Given the description of an element on the screen output the (x, y) to click on. 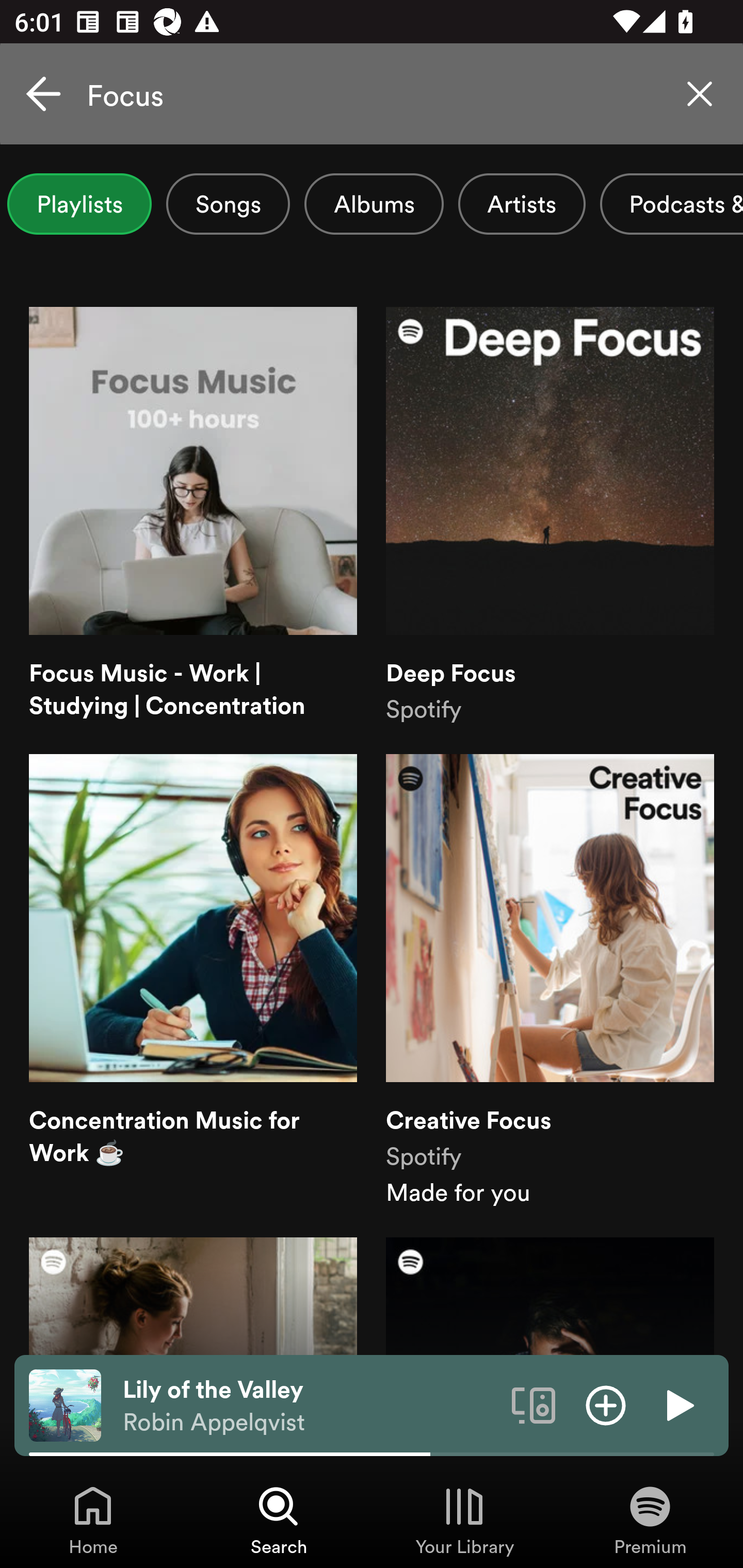
Focus (371, 93)
Cancel (43, 93)
Clear search query (699, 93)
Playlists (79, 203)
Songs (227, 203)
Albums (373, 203)
Artists (521, 203)
Podcasts & Shows (671, 203)
Focus Music - Work | Studying | Concentration (192, 515)
Deep Focus Spotify (549, 515)
Concentration Music for Work ☕ (192, 981)
Creative Focus Spotify Made for you (549, 981)
Lily of the Valley Robin Appelqvist (309, 1405)
The cover art of the currently playing track (64, 1404)
Connect to a device. Opens the devices menu (533, 1404)
Add item (605, 1404)
Play (677, 1404)
Home, Tab 1 of 4 Home Home (92, 1519)
Search, Tab 2 of 4 Search Search (278, 1519)
Your Library, Tab 3 of 4 Your Library Your Library (464, 1519)
Premium, Tab 4 of 4 Premium Premium (650, 1519)
